Given the description of an element on the screen output the (x, y) to click on. 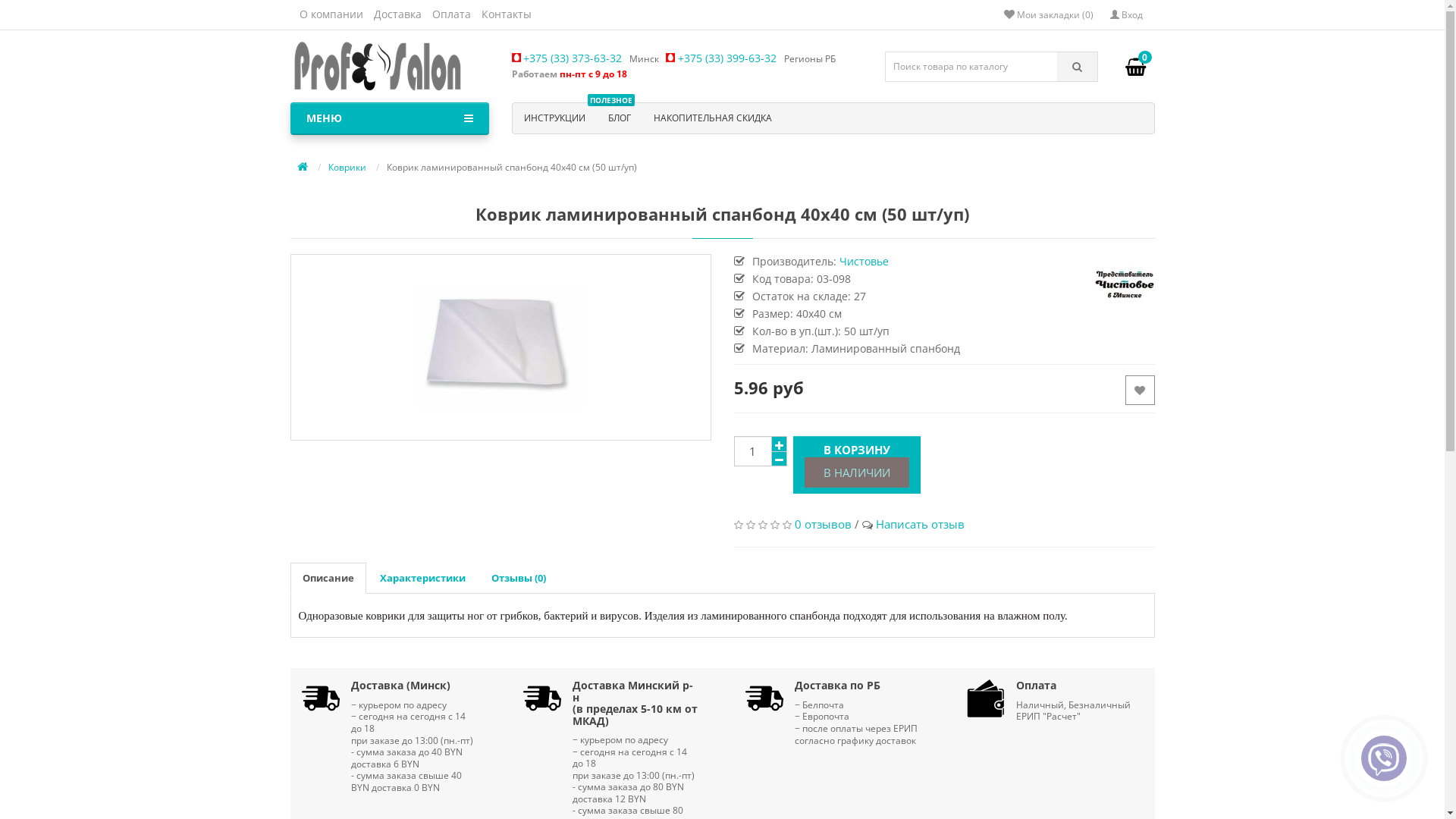
+375 (33) 373-63-32 Element type: text (576, 57)
0 Element type: text (1133, 66)
 +375 (33) 399-63-32 Element type: text (724, 57)
